Given the description of an element on the screen output the (x, y) to click on. 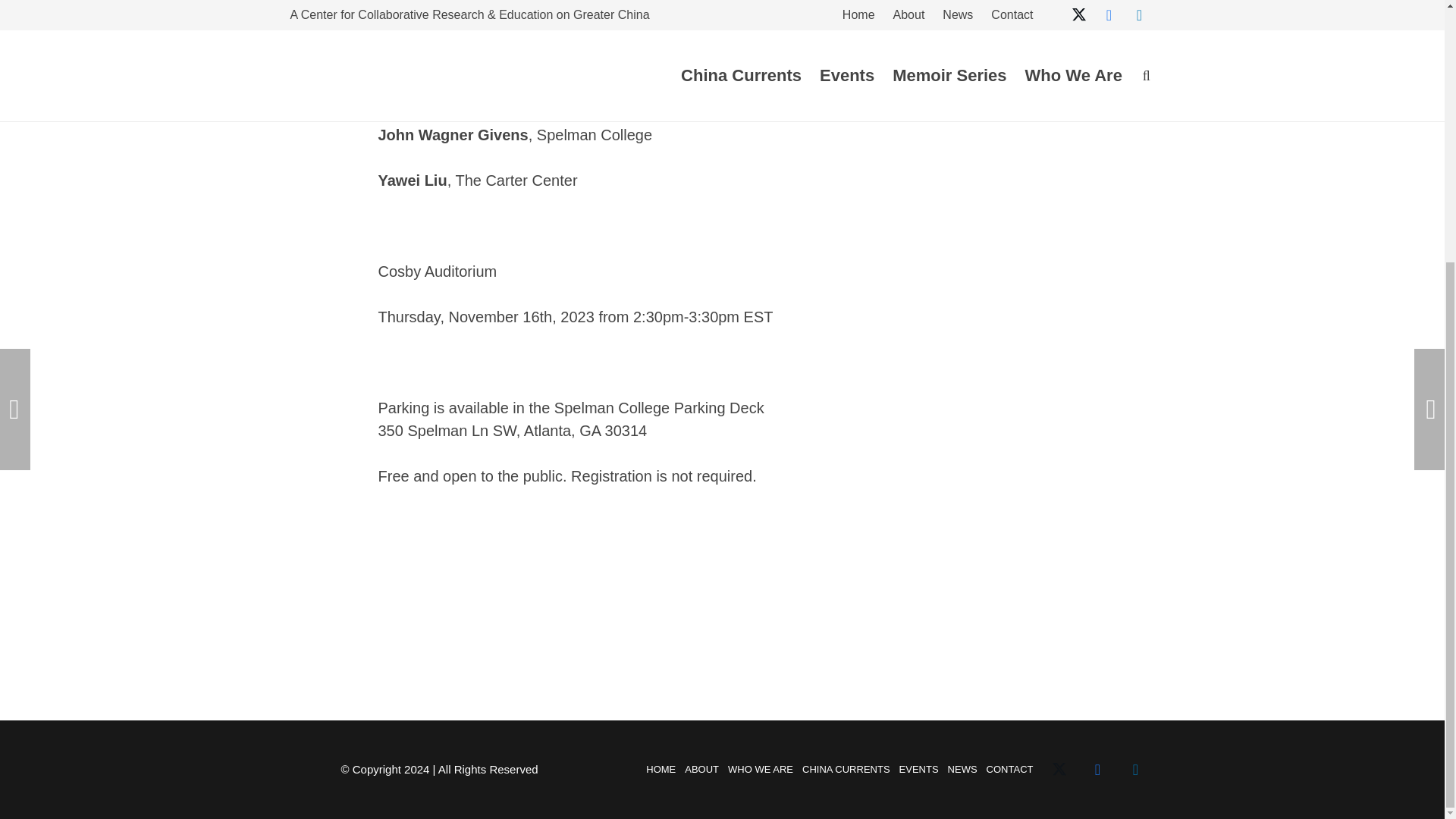
ABOUT (701, 768)
Email this (898, 62)
Share this (1034, 62)
Share this (943, 62)
Twitter (1059, 769)
HOME (660, 768)
Facebook (1097, 769)
Tweet this (988, 62)
CHINA CURRENTS (845, 768)
LinkedIn (1135, 769)
